Given the description of an element on the screen output the (x, y) to click on. 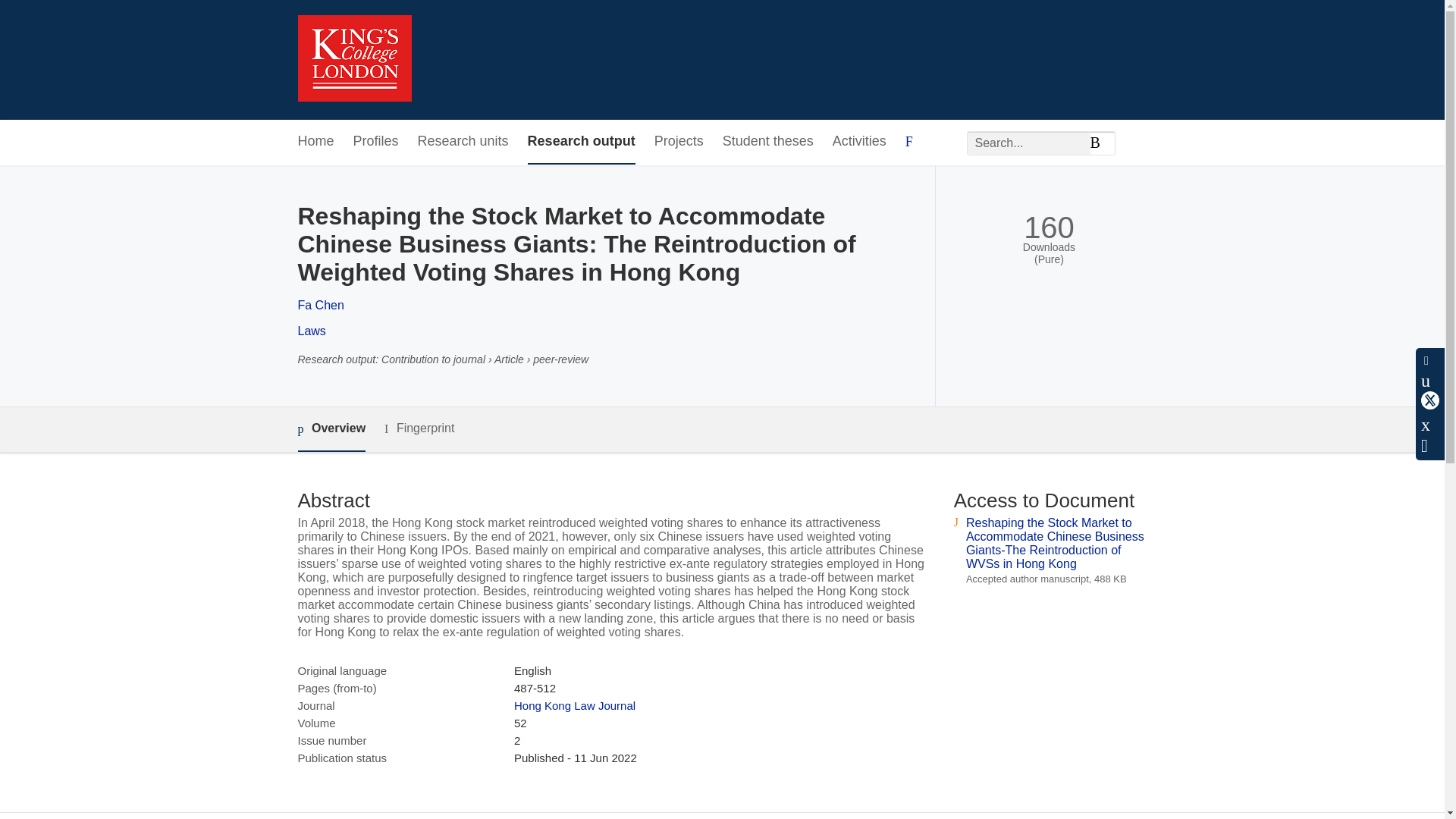
Fa Chen (320, 305)
Student theses (767, 141)
Activities (859, 141)
Profiles (375, 141)
Fingerprint (419, 428)
Research units (462, 141)
Hong Kong Law Journal (573, 705)
King's College London Home (353, 59)
